Given the description of an element on the screen output the (x, y) to click on. 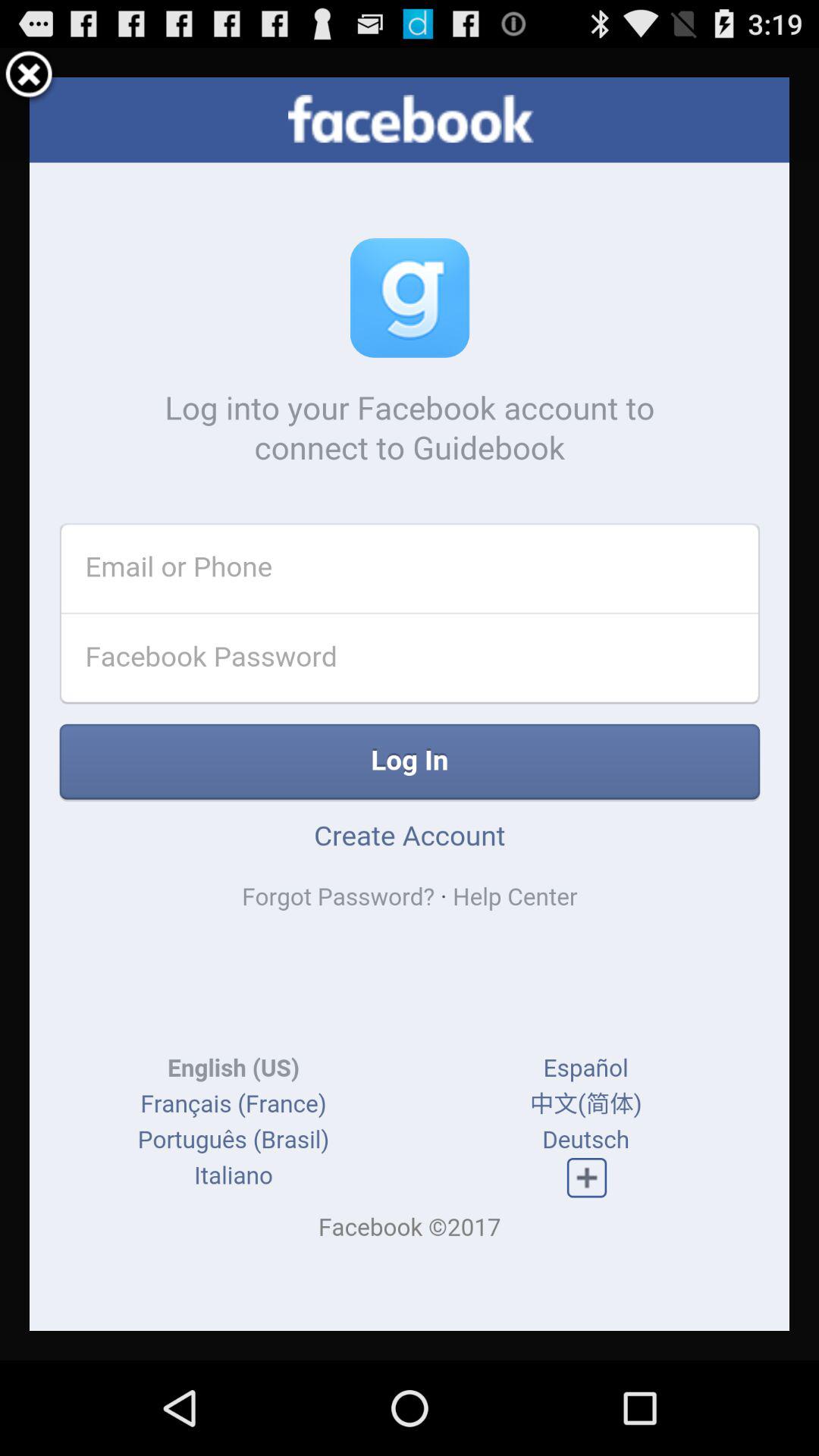
exit screen (29, 76)
